Given the description of an element on the screen output the (x, y) to click on. 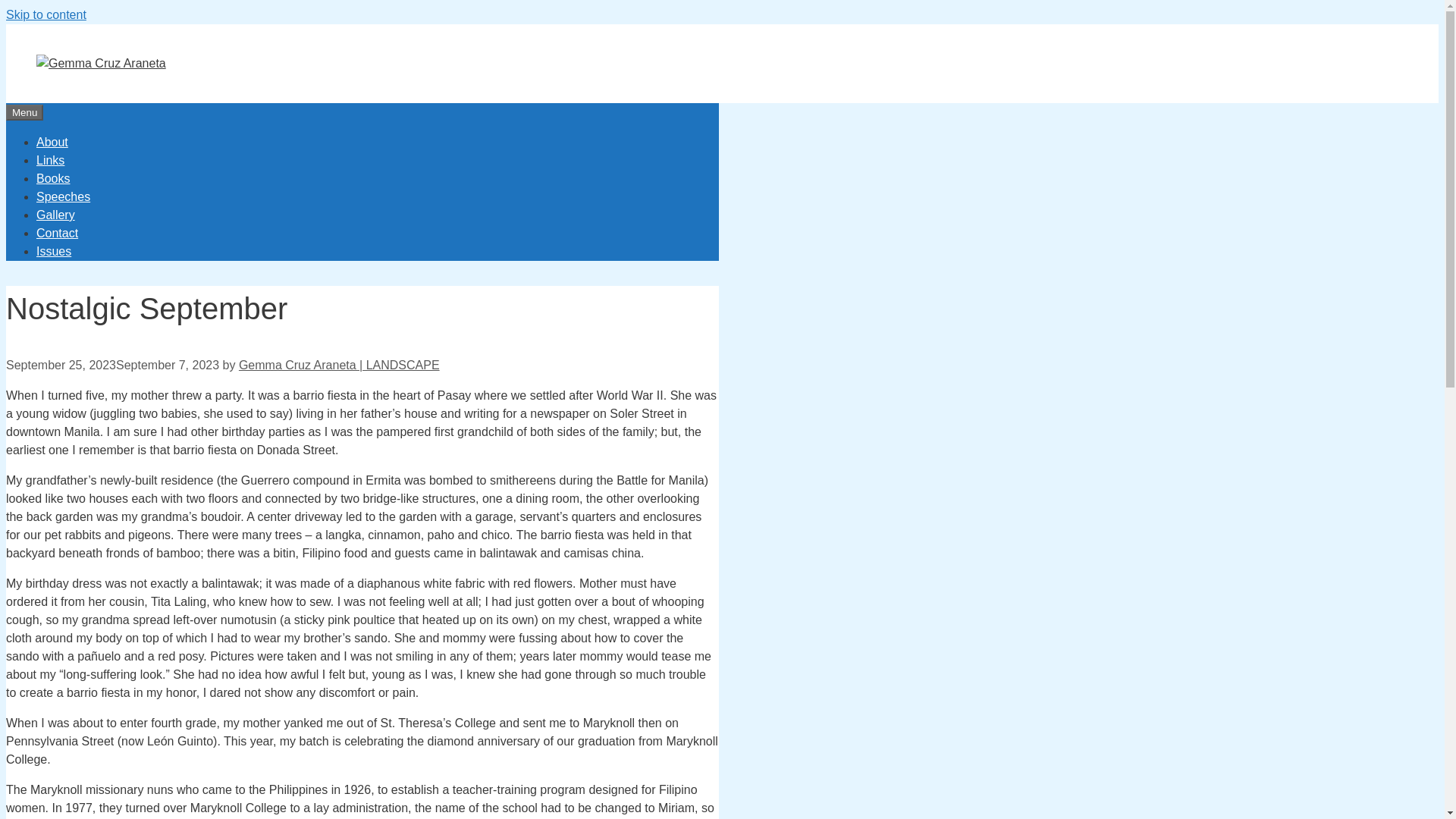
Skip to content (45, 14)
Gallery (55, 214)
Menu (24, 112)
About (52, 141)
Links (50, 160)
Speeches (63, 196)
Books (52, 178)
Issues (53, 250)
Contact (57, 232)
Skip to content (45, 14)
